Given the description of an element on the screen output the (x, y) to click on. 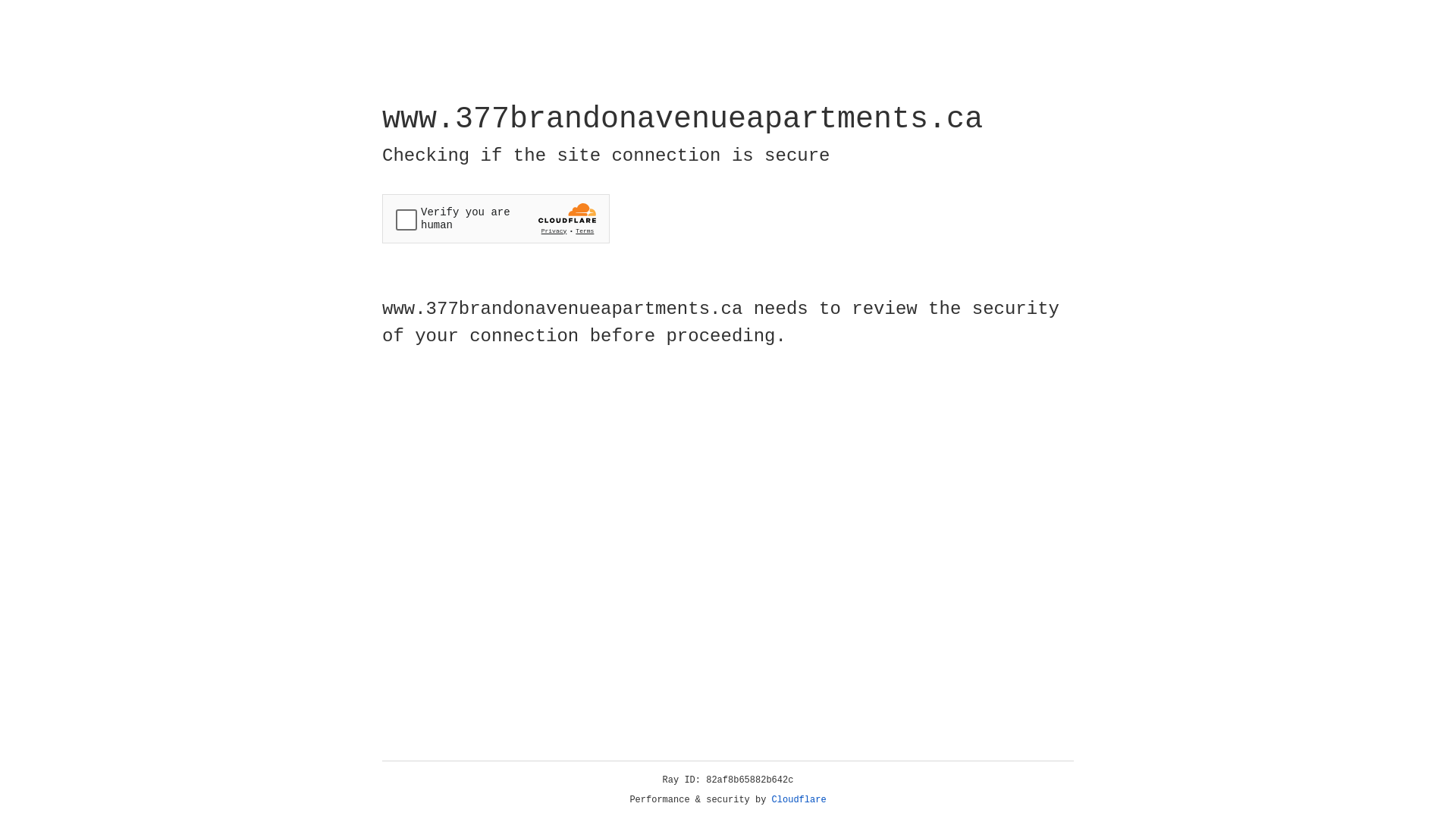
Cloudflare Element type: text (798, 799)
Widget containing a Cloudflare security challenge Element type: hover (495, 218)
